Given the description of an element on the screen output the (x, y) to click on. 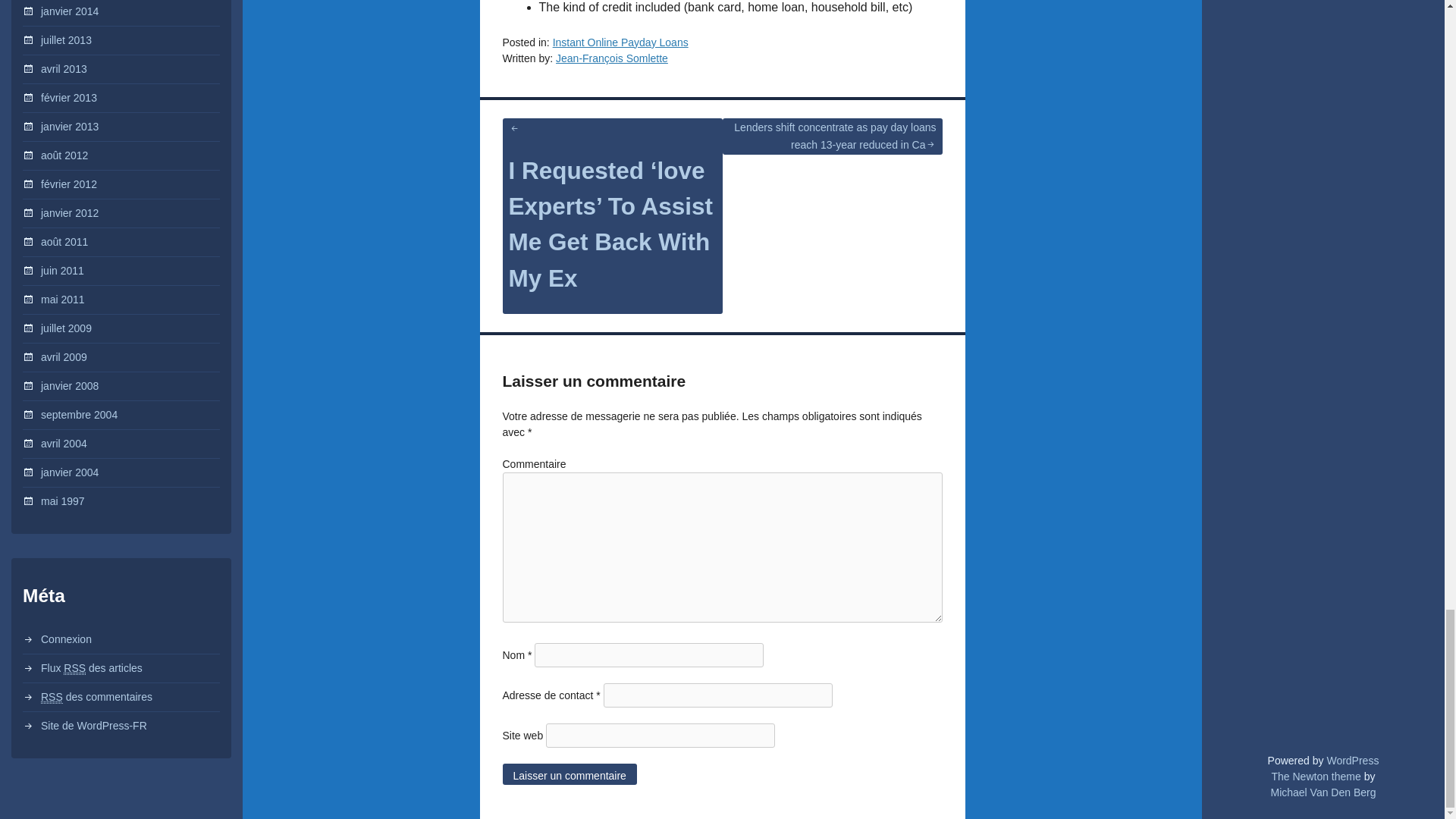
Laisser un commentaire (569, 773)
Really Simple Syndication (74, 667)
Really Simple Syndication (51, 697)
